Given the description of an element on the screen output the (x, y) to click on. 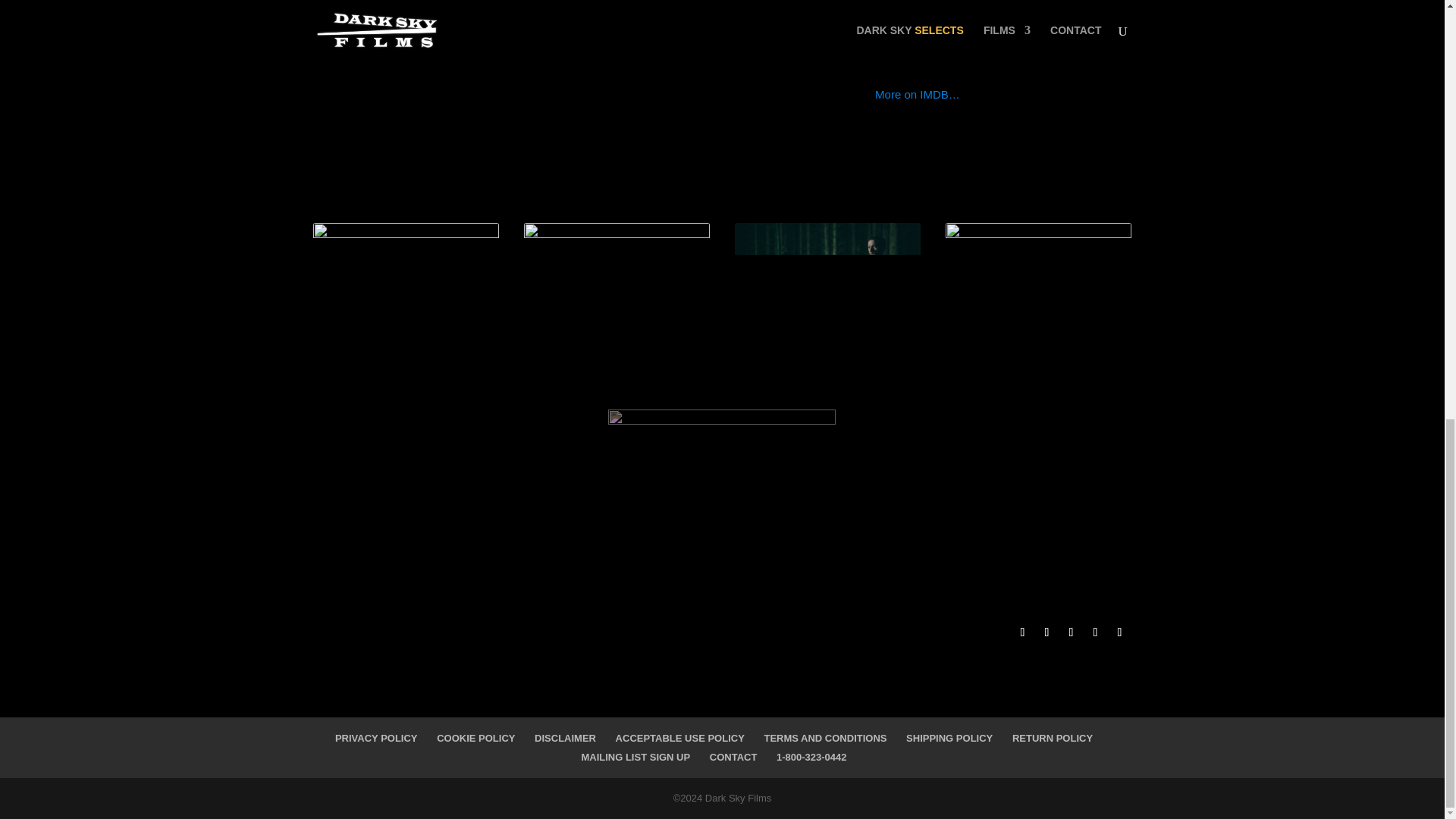
GT-Background-4 (406, 327)
Follow on Twitter (1045, 631)
GT-Background-3 (617, 327)
Follow on Facebook (1021, 631)
Follow on Youtube (1070, 631)
GT-Background-1 (1038, 327)
GT-Background-2 (828, 327)
